Given the description of an element on the screen output the (x, y) to click on. 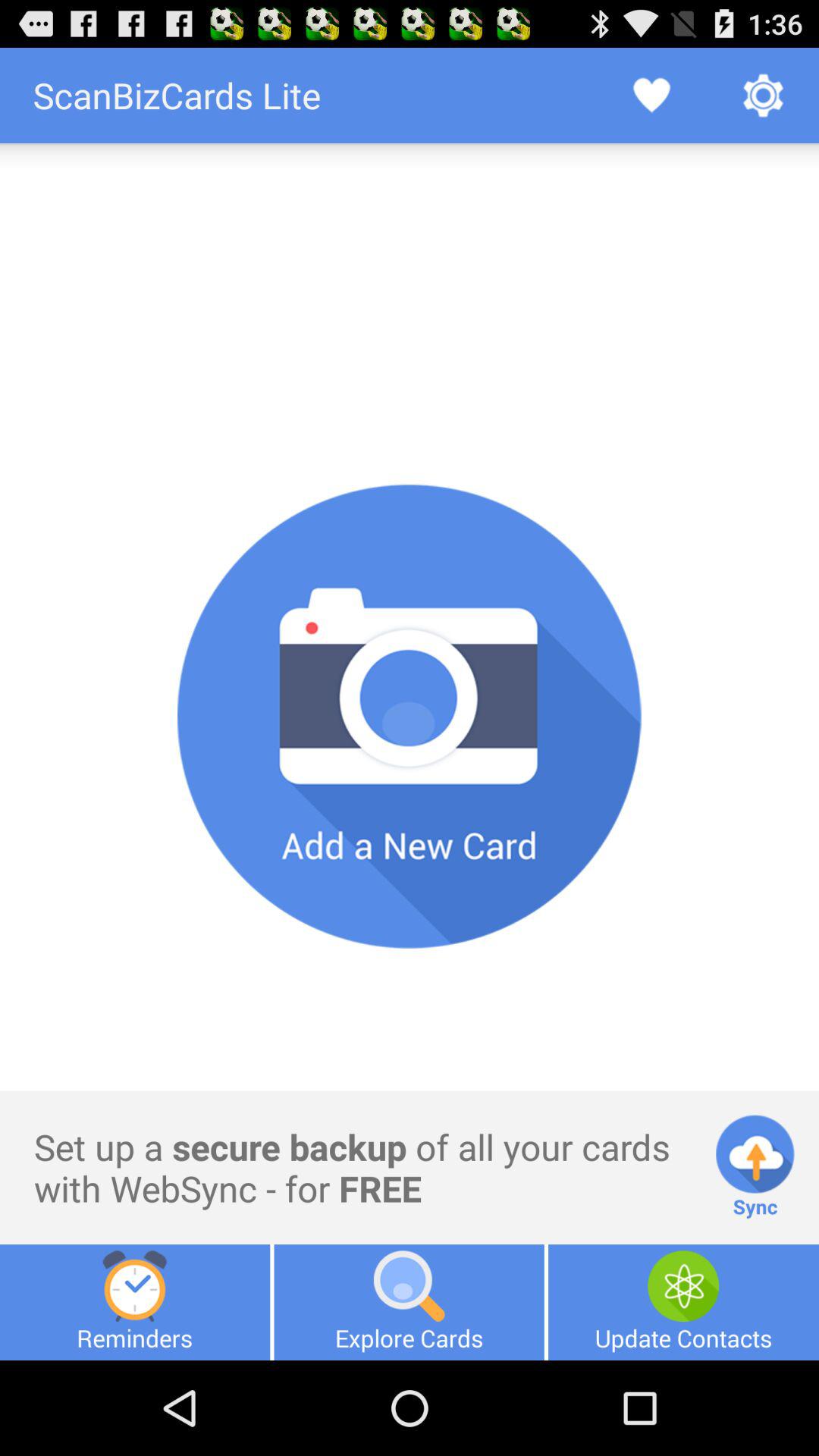
launch the icon at the top (409, 192)
